Given the description of an element on the screen output the (x, y) to click on. 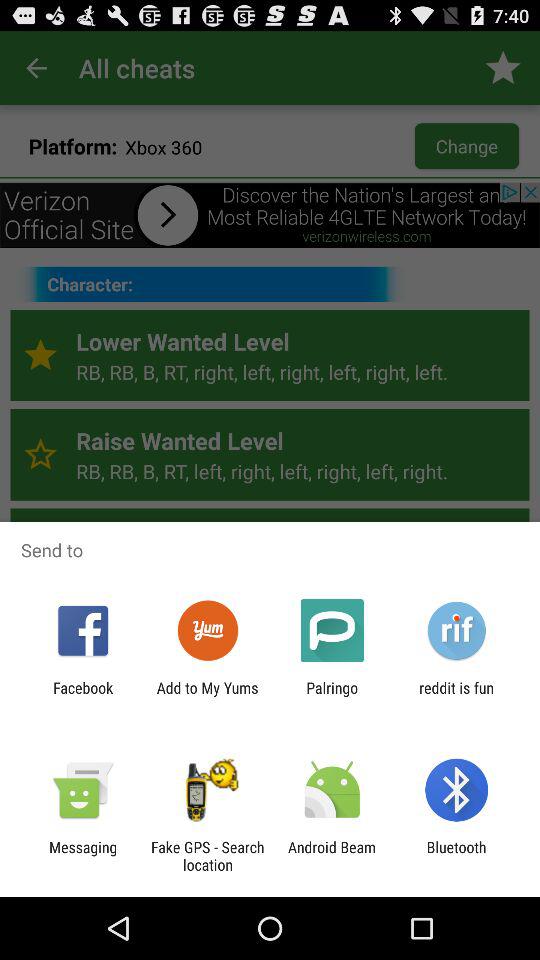
turn on the icon next to the messaging app (207, 856)
